Given the description of an element on the screen output the (x, y) to click on. 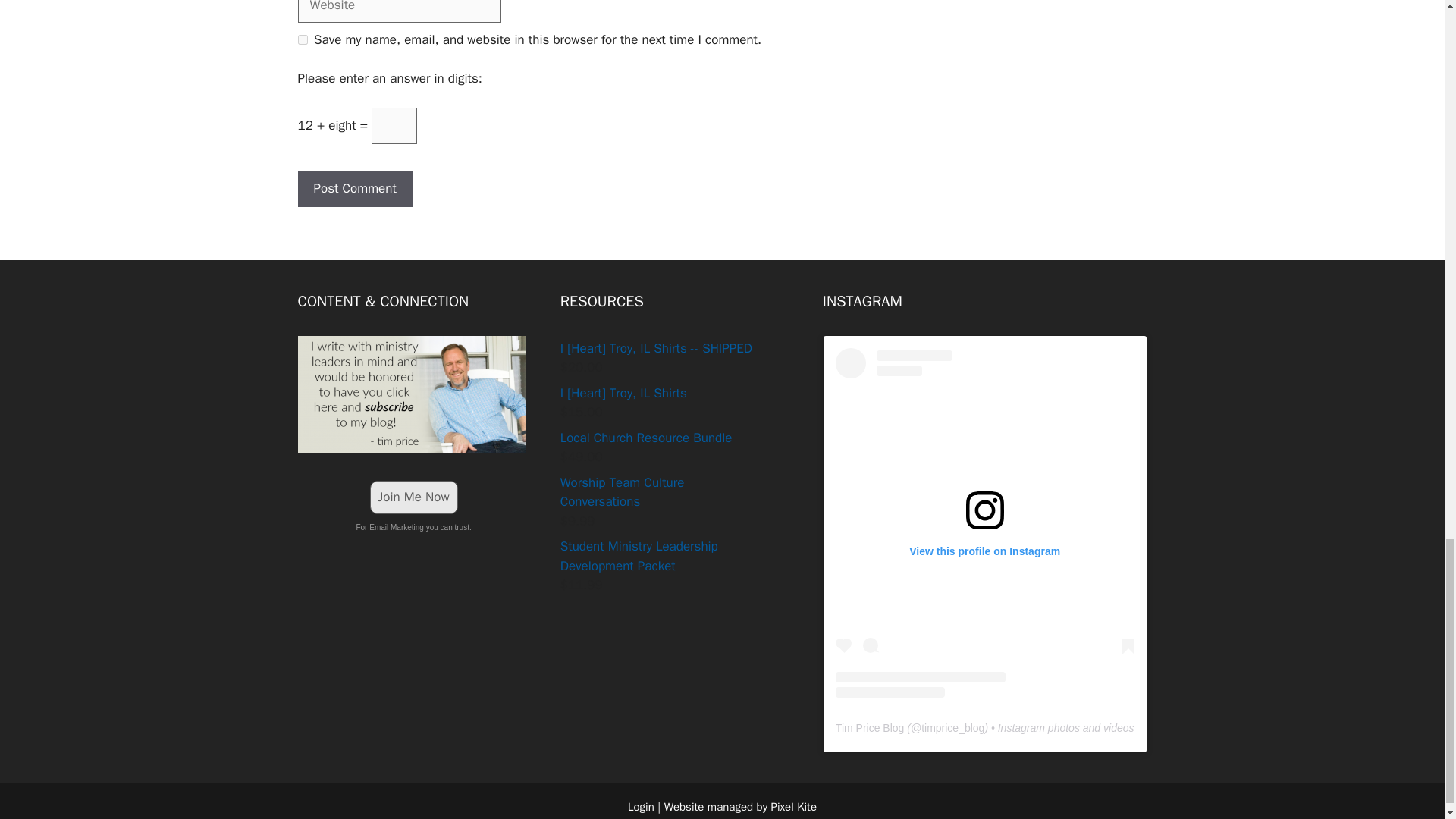
yes (302, 40)
Post Comment (354, 188)
Post Comment (354, 188)
